Given the description of an element on the screen output the (x, y) to click on. 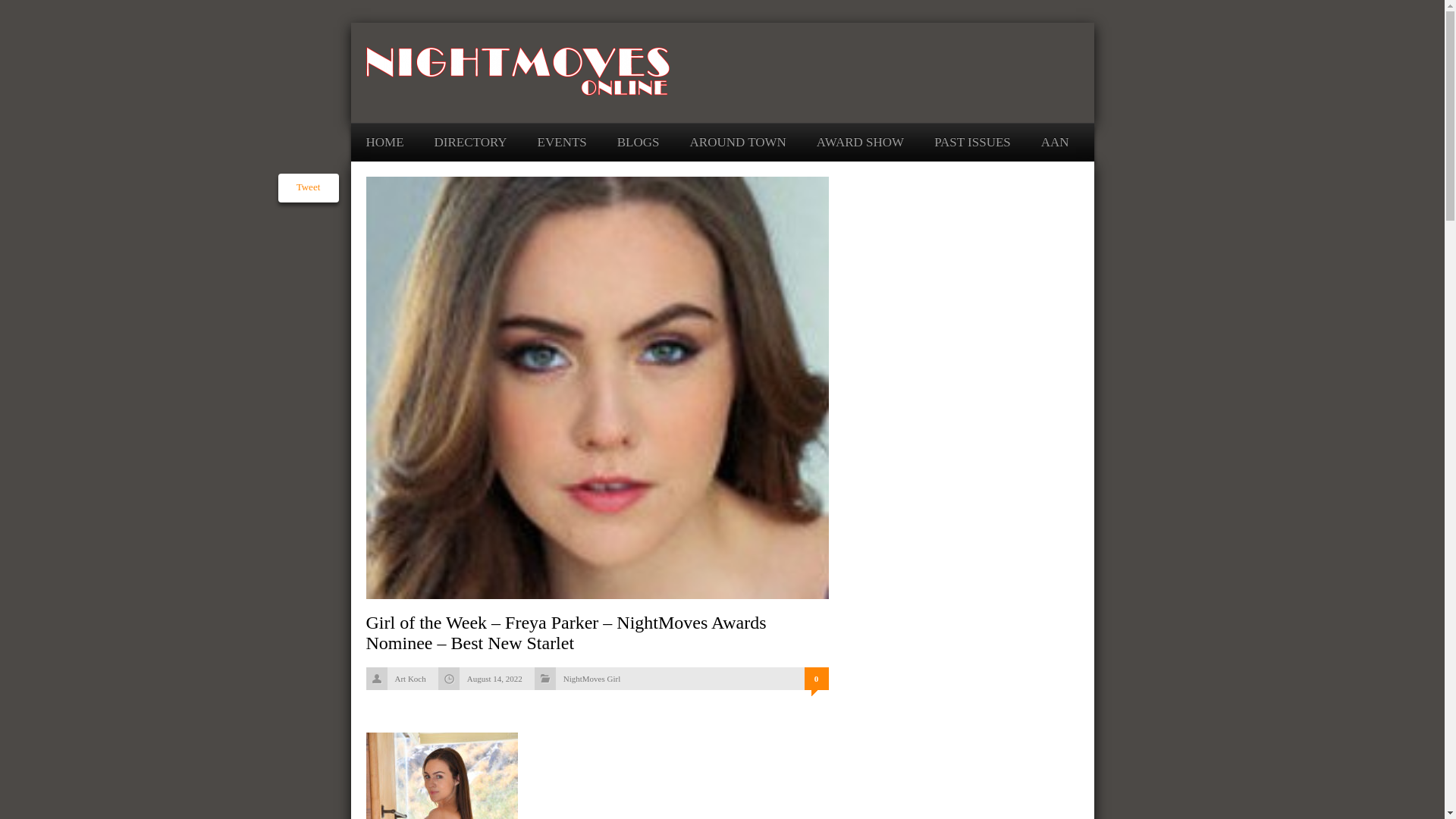
NightMoves Girl (591, 678)
Posts by Art Koch (409, 678)
PAST ISSUES (972, 142)
AAN (1054, 142)
BLOGS (638, 142)
HOME (384, 142)
AROUND TOWN (738, 142)
AWARD SHOW (860, 142)
EVENTS (561, 142)
Art Koch (409, 678)
